Given the description of an element on the screen output the (x, y) to click on. 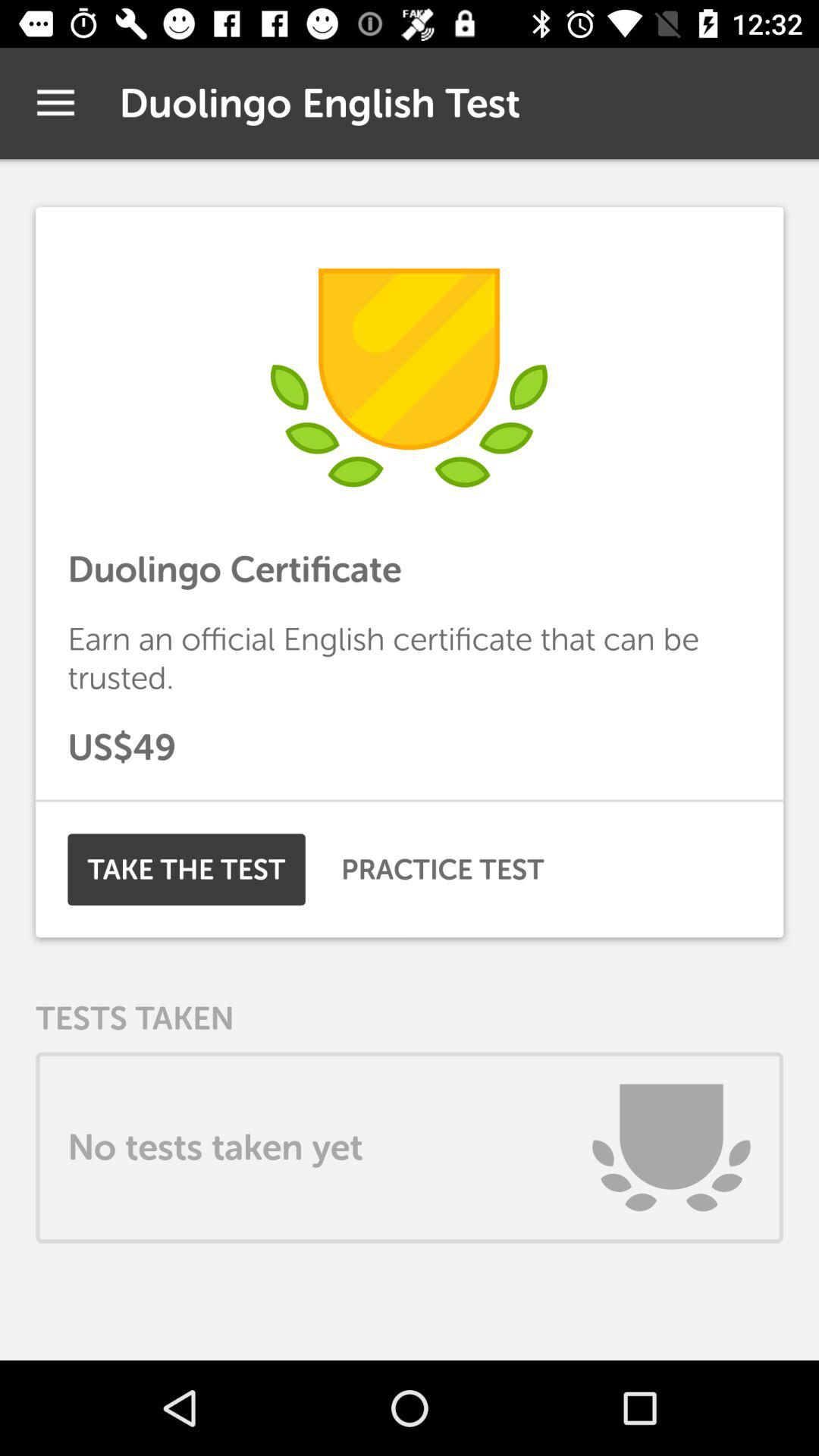
click the duolingo certificate (409, 569)
